Given the description of an element on the screen output the (x, y) to click on. 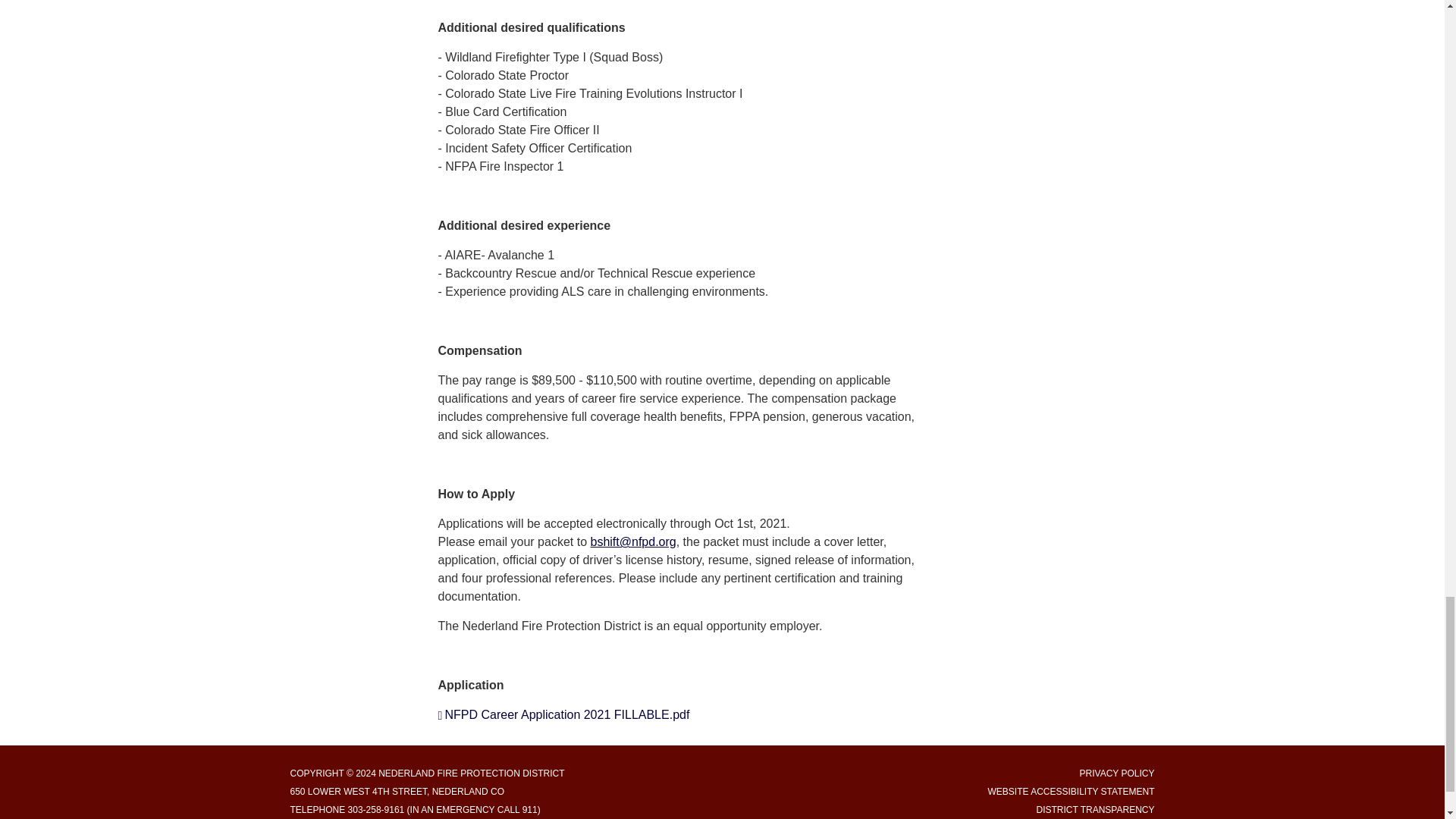
Special District Transparency Report (1094, 809)
